Given the description of an element on the screen output the (x, y) to click on. 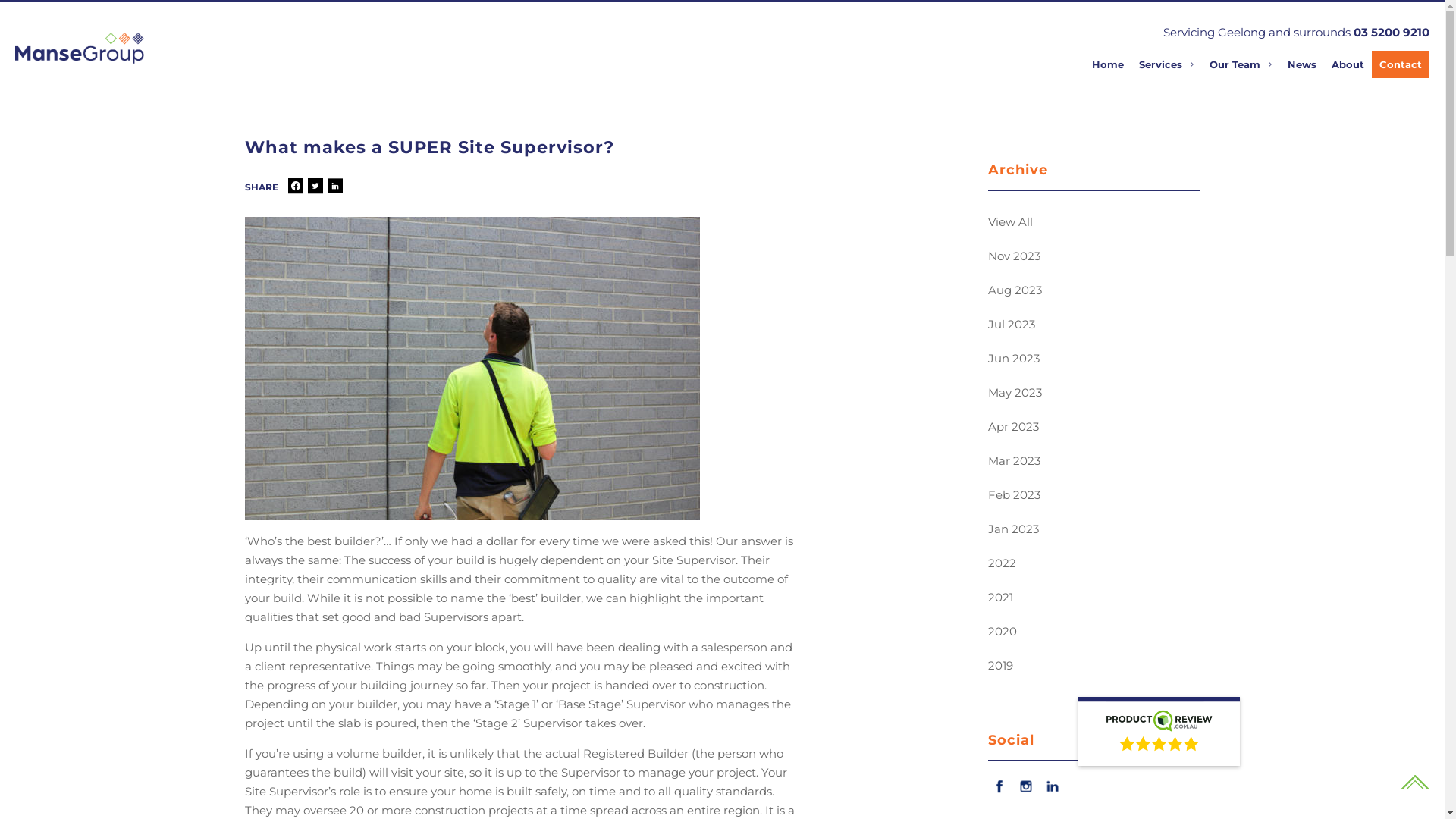
Jan 2023 Element type: text (1093, 528)
Home Element type: text (1107, 64)
Contact Element type: text (1400, 64)
Mar 2023 Element type: text (1093, 460)
Jun 2023 Element type: text (1093, 358)
2022 Element type: text (1093, 563)
Services Element type: text (1166, 64)
May 2023 Element type: text (1093, 392)
Feb 2023 Element type: text (1093, 494)
News Element type: text (1302, 64)
2020 Element type: text (1093, 631)
2021 Element type: text (1093, 597)
03 5200 9210 Element type: text (1391, 32)
Apr 2023 Element type: text (1093, 426)
Jul 2023 Element type: text (1093, 324)
Nov 2023 Element type: text (1093, 255)
Aug 2023 Element type: text (1093, 290)
Our Team Element type: text (1240, 64)
About Element type: text (1347, 64)
View All Element type: text (1093, 221)
2019 Element type: text (1093, 665)
